Given the description of an element on the screen output the (x, y) to click on. 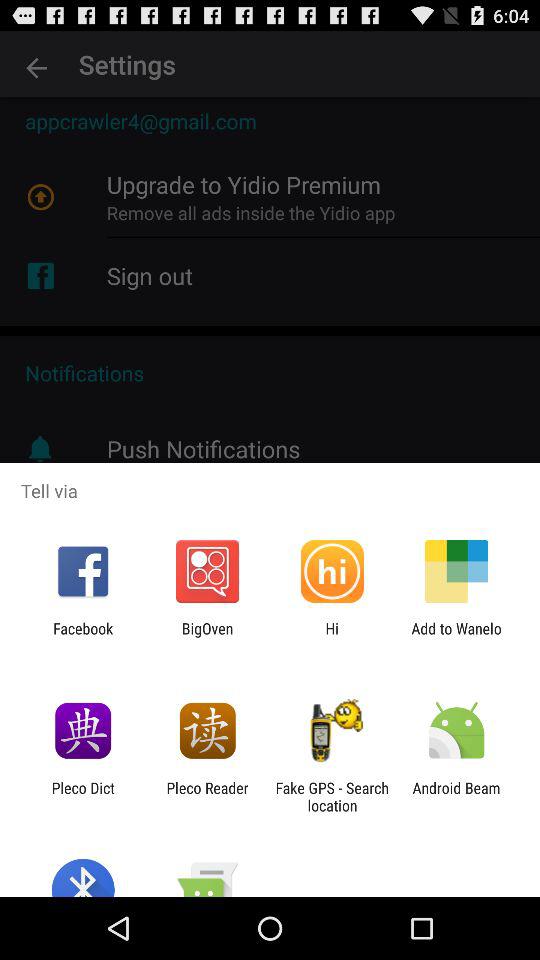
flip until the android beam icon (456, 796)
